Given the description of an element on the screen output the (x, y) to click on. 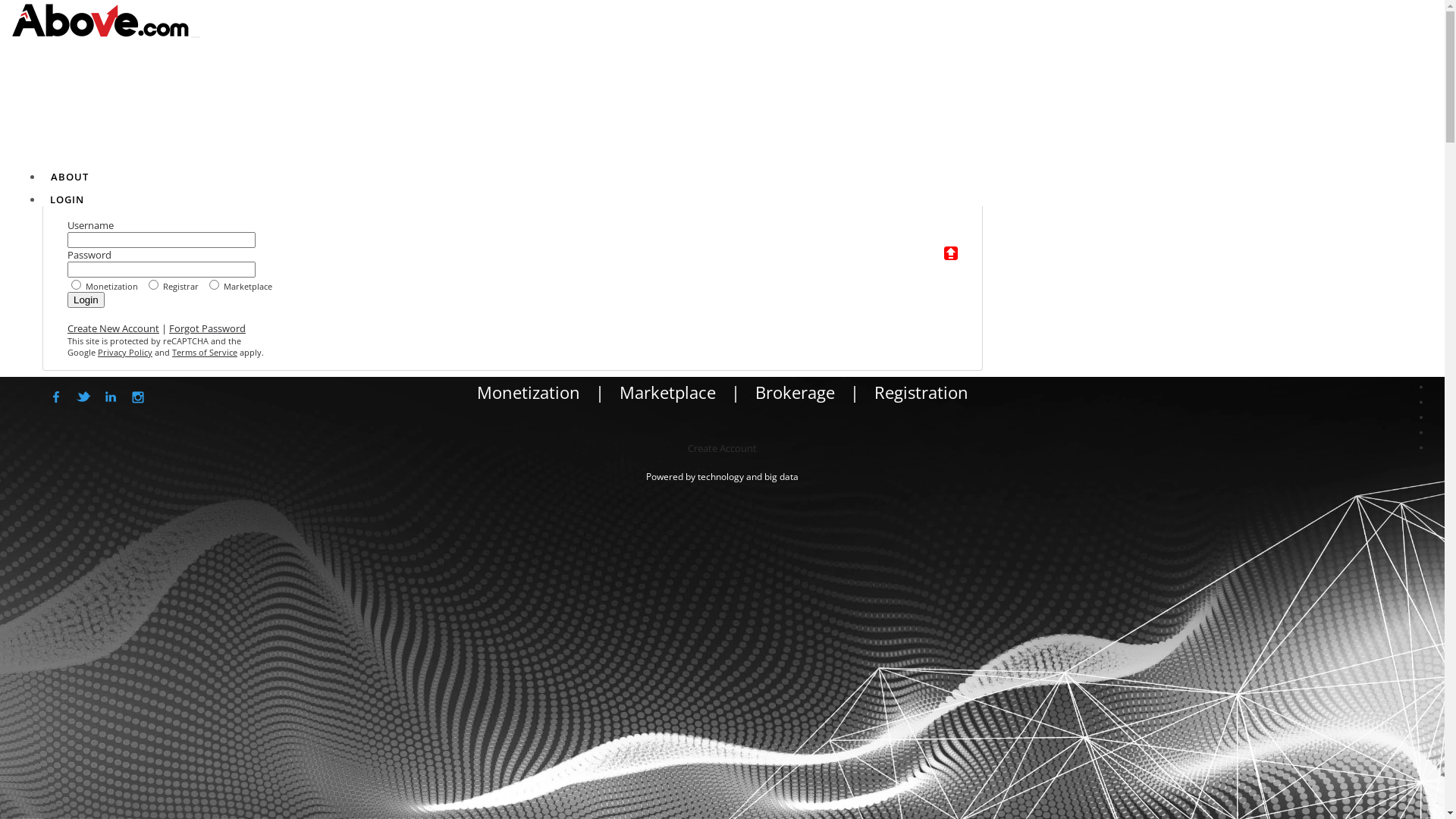
Portfolio Manager Element type: text (1420, 371)
Privacy Policy Element type: text (124, 351)
Above Registrar Element type: text (1420, 417)
LOGIN Element type: text (67, 199)
Marketplace Element type: text (666, 391)
Registration Element type: text (920, 391)
Brokerage Element type: text (794, 391)
Terms of Service Element type: text (204, 351)
Domain Brokerage Element type: text (1420, 402)
Monetization Element type: text (1420, 387)
Monetization   Registrar   Marketplace Element type: text (512, 284)
Create New Account Element type: text (113, 328)
Section 6 Element type: text (1420, 447)
Above Marketplace Element type: text (1420, 432)
Create Account Element type: text (721, 448)
Login Element type: text (85, 299)
ABOUT Element type: text (69, 176)
Forgot Password Element type: text (207, 328)
Monetization Element type: text (527, 391)
